Given the description of an element on the screen output the (x, y) to click on. 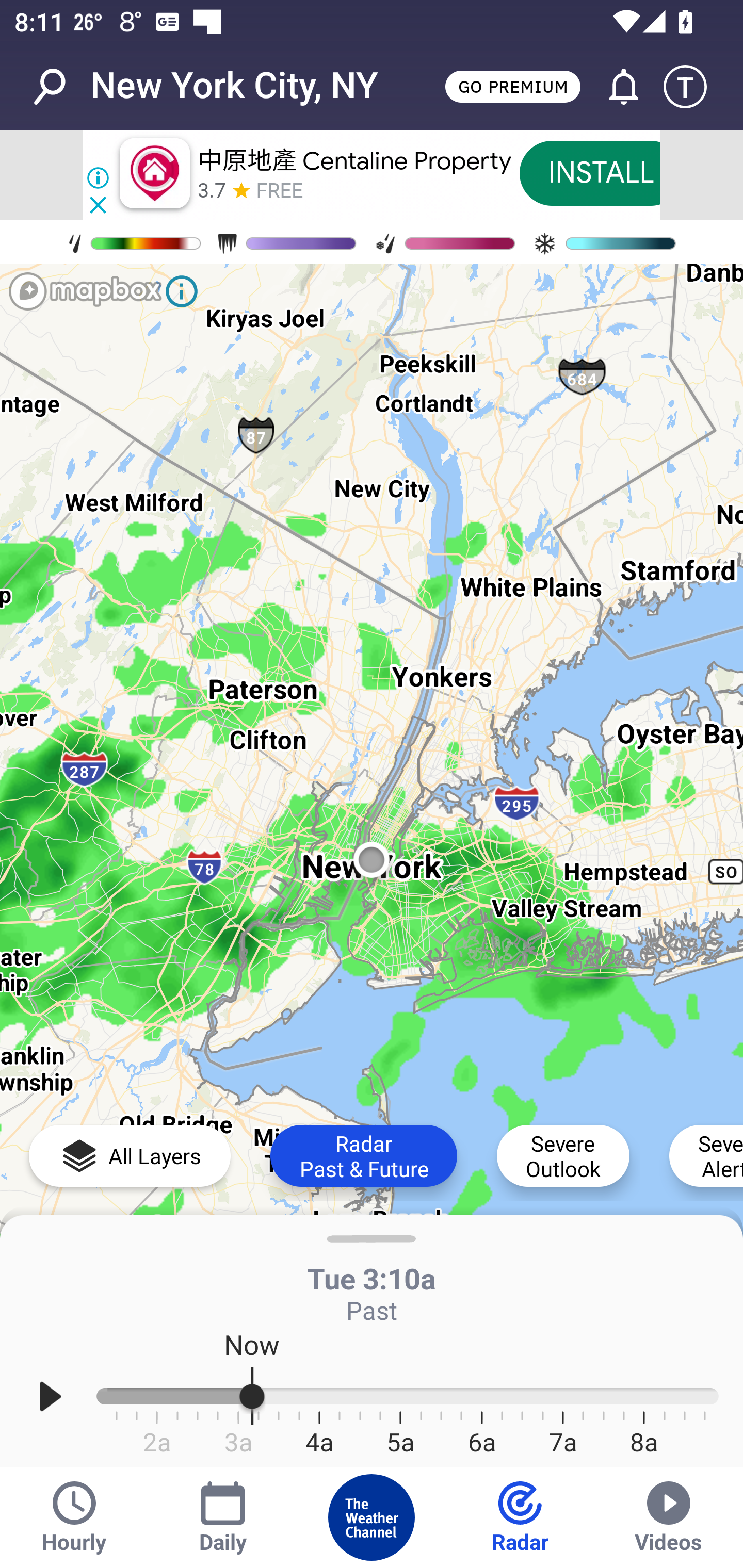
Search (59, 86)
Go to Alerts and Notifications (614, 86)
Setting icon T (694, 86)
New York City, NY (234, 85)
GO PREMIUM (512, 85)
INSTALL (600, 173)
中原地產 Centaline Property (354, 160)
All Layers (129, 1155)
Radar
Past & Future Radar Past & Future (363, 1155)
Severe
Outlook Severe Outlook (563, 1155)
Play (50, 1396)
Hourly Tab Hourly (74, 1517)
Daily Tab Daily (222, 1517)
Home Tab (371, 1517)
Videos Tab Videos (668, 1517)
